Given the description of an element on the screen output the (x, y) to click on. 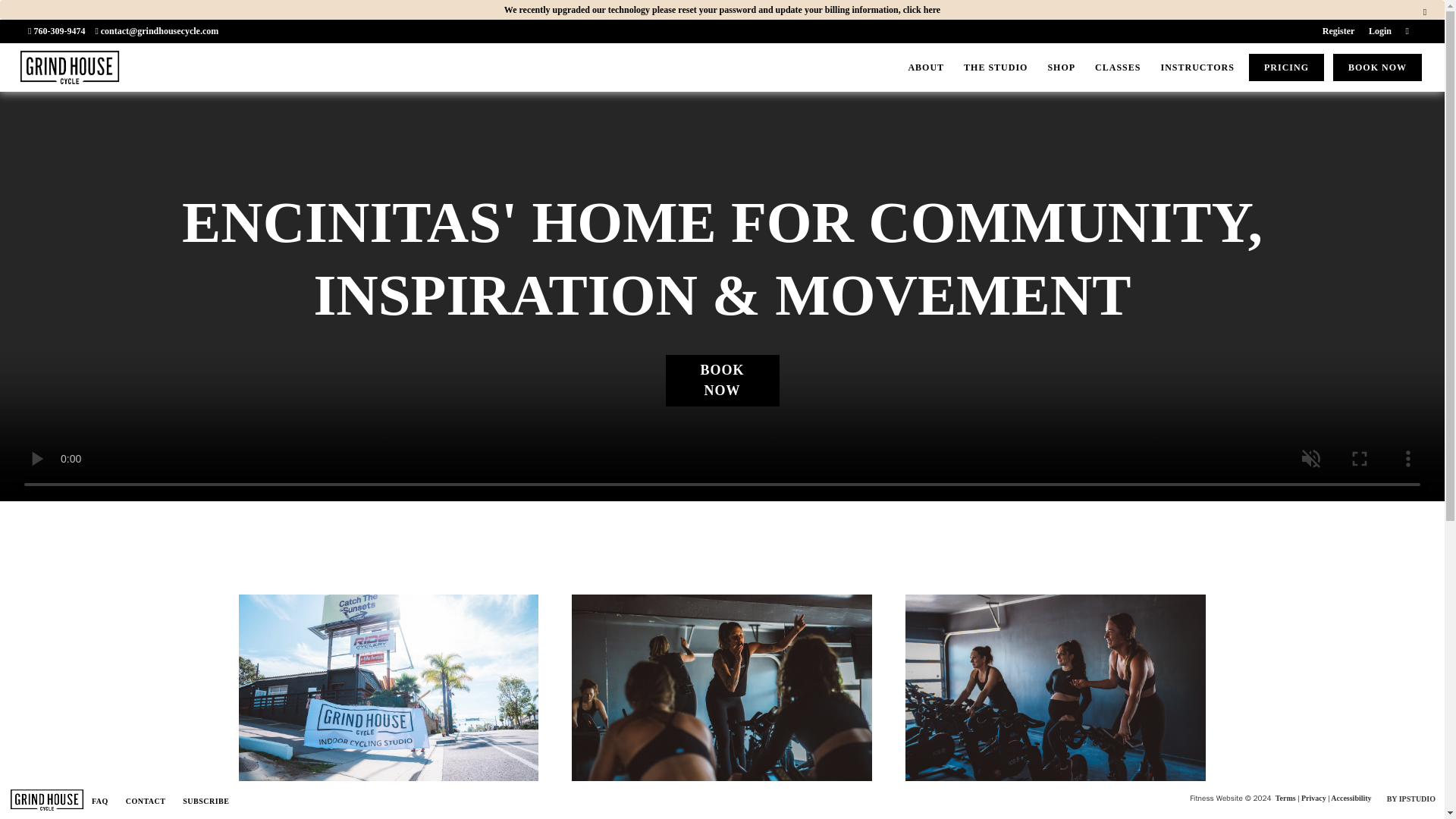
GRIND HOUSE CYCLE (73, 95)
CLASSES (1118, 67)
SHOP (1061, 67)
THE STUDIO (995, 67)
INSTRUCTORS (1197, 67)
PRICING (1285, 67)
Register (1338, 30)
Login (1379, 30)
ABOUT (925, 67)
